Given the description of an element on the screen output the (x, y) to click on. 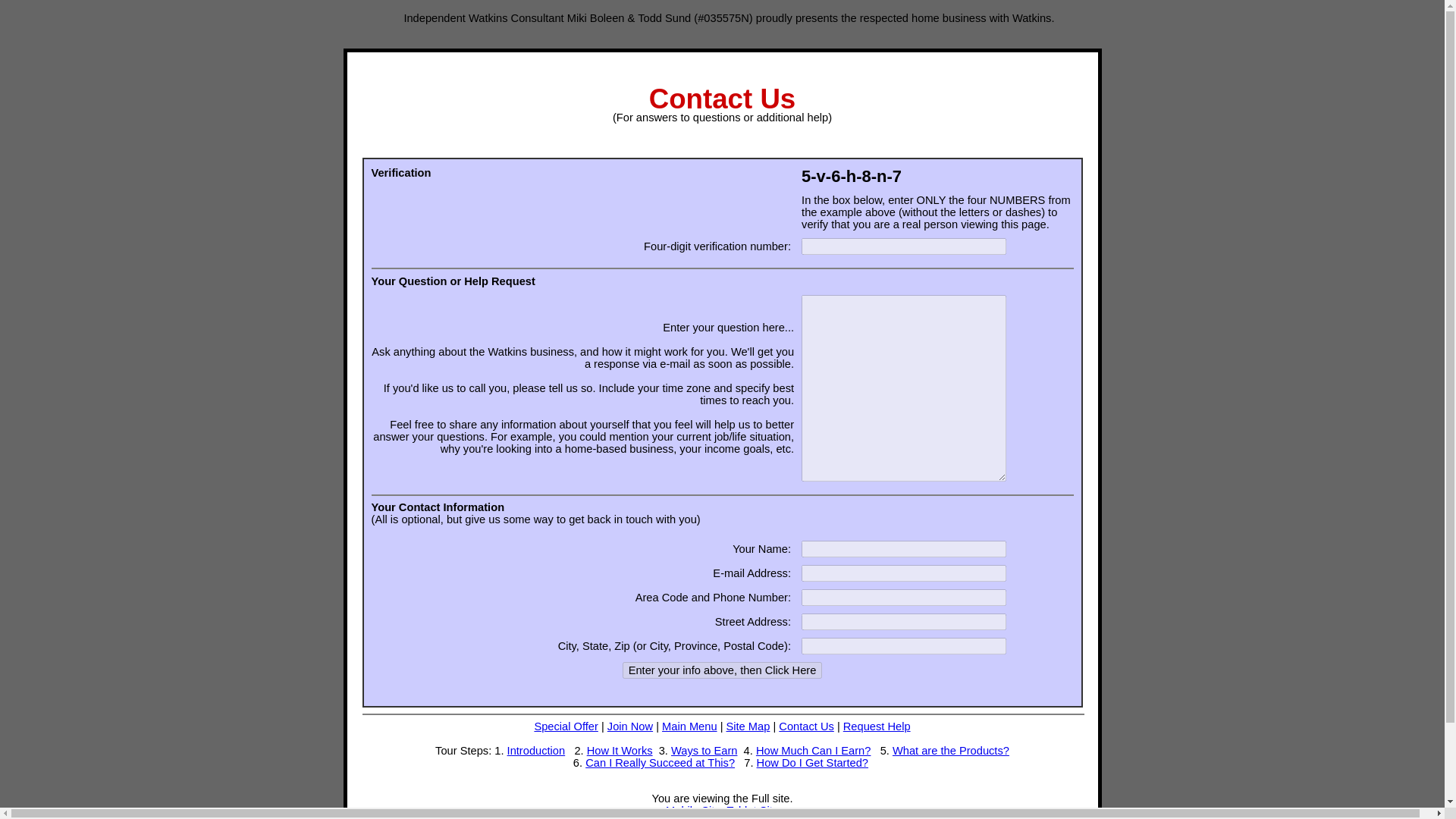
Tablet Site (751, 810)
What are the Products? (950, 750)
How Do I Get Started? (812, 762)
Site Map (748, 726)
Special Offer (565, 726)
Ways to Earn (703, 750)
How Much Can I Earn? (812, 750)
Mobile Site (692, 810)
How It Works (619, 750)
Enter your info above, then Click Here (722, 669)
Join Now (629, 726)
Introduction (536, 750)
Contact Us (806, 726)
Can I Really Succeed at This? (660, 762)
Request Help (877, 726)
